Given the description of an element on the screen output the (x, y) to click on. 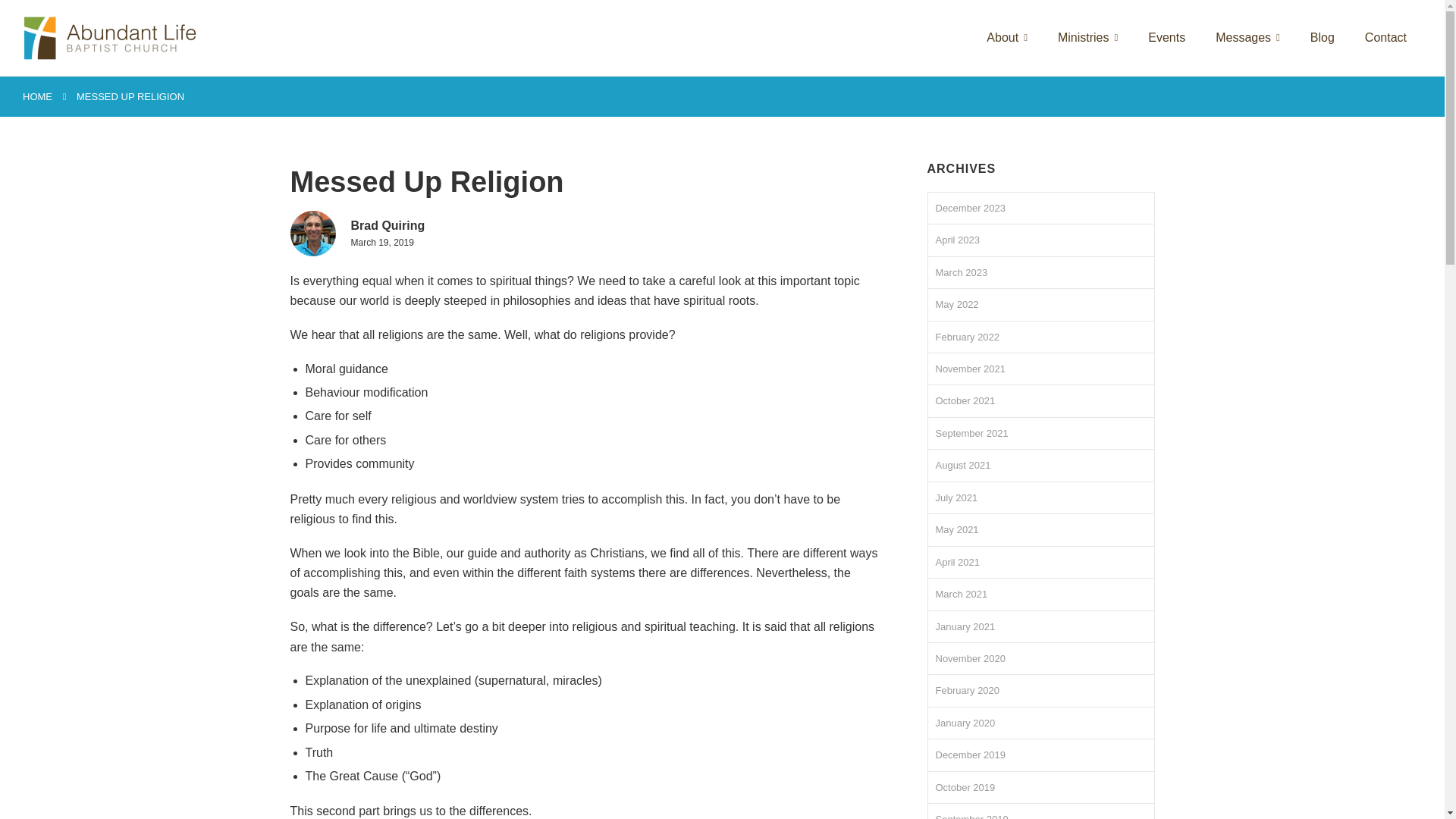
Messages (1247, 37)
About (1007, 37)
Ministries (1088, 37)
Blog (1322, 37)
Contact (1385, 37)
Events (1166, 37)
